Given the description of an element on the screen output the (x, y) to click on. 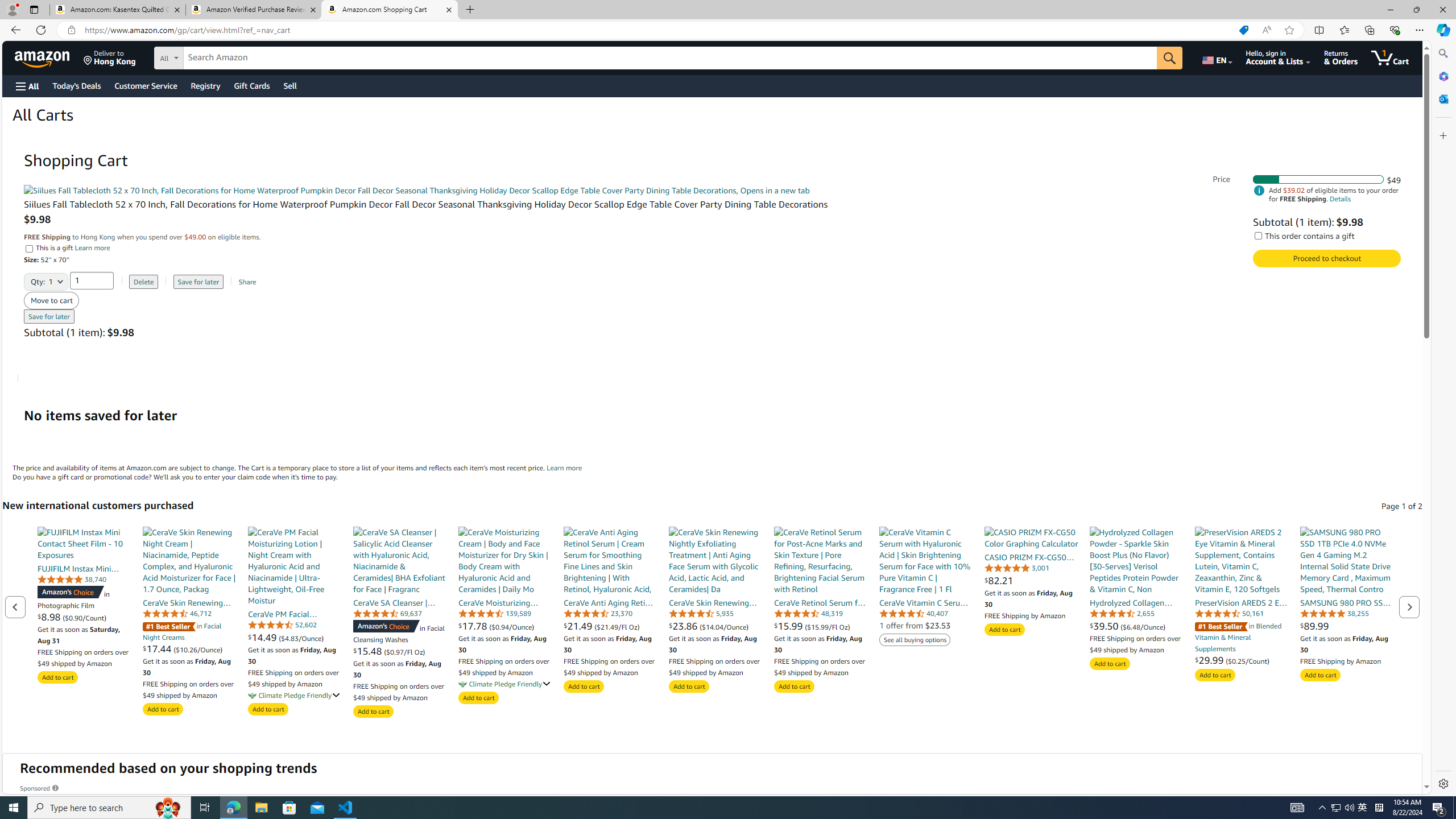
Customer Service (145, 85)
Search in (210, 56)
$15.48  (368, 650)
$17.44  (158, 648)
$17.78  (473, 625)
